Given the description of an element on the screen output the (x, y) to click on. 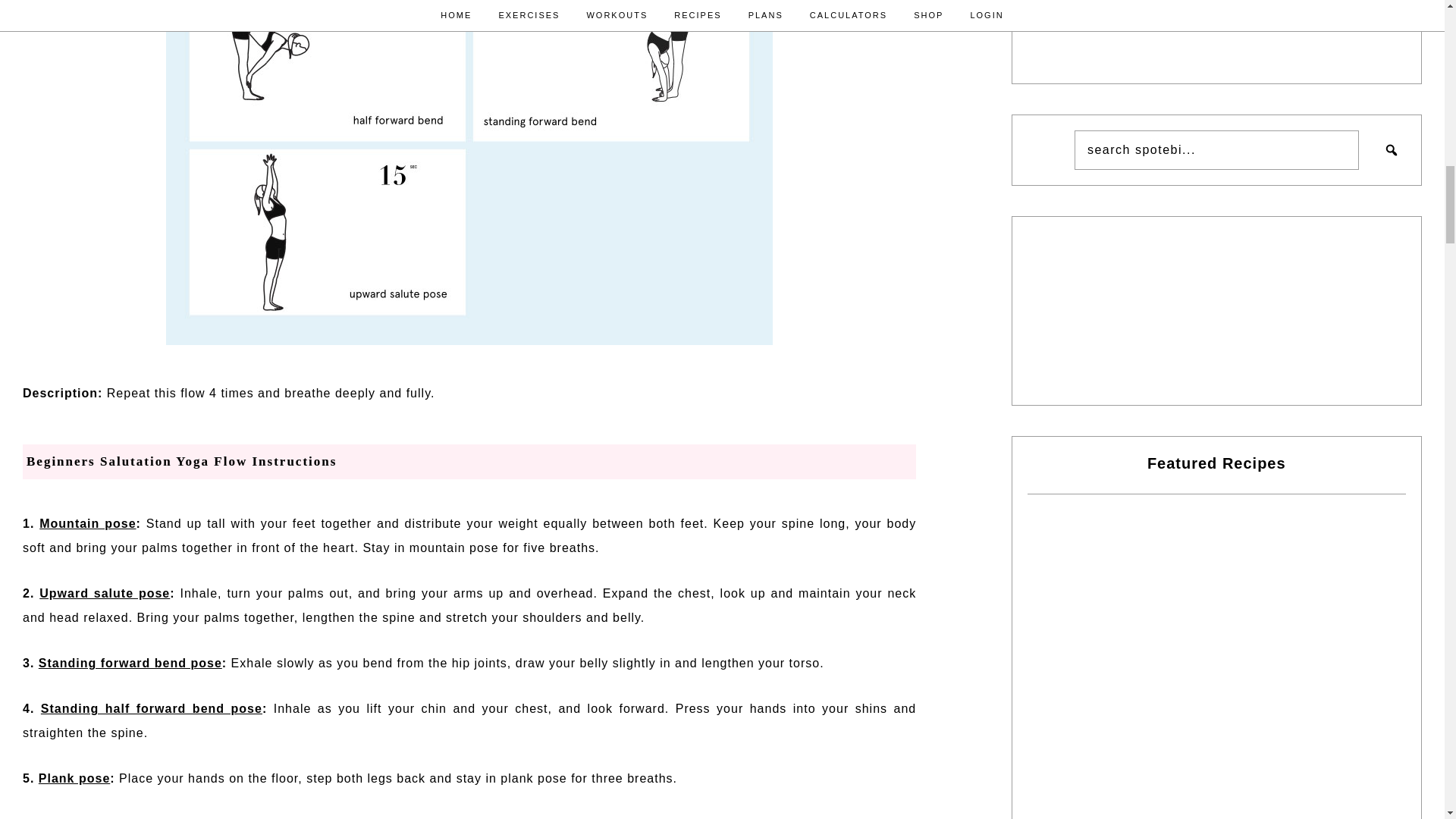
Upward salute pose (104, 593)
Mountain pose (87, 522)
Plank pose (74, 778)
Standing forward bend pose (130, 662)
Standing half forward bend pose (151, 707)
